Given the description of an element on the screen output the (x, y) to click on. 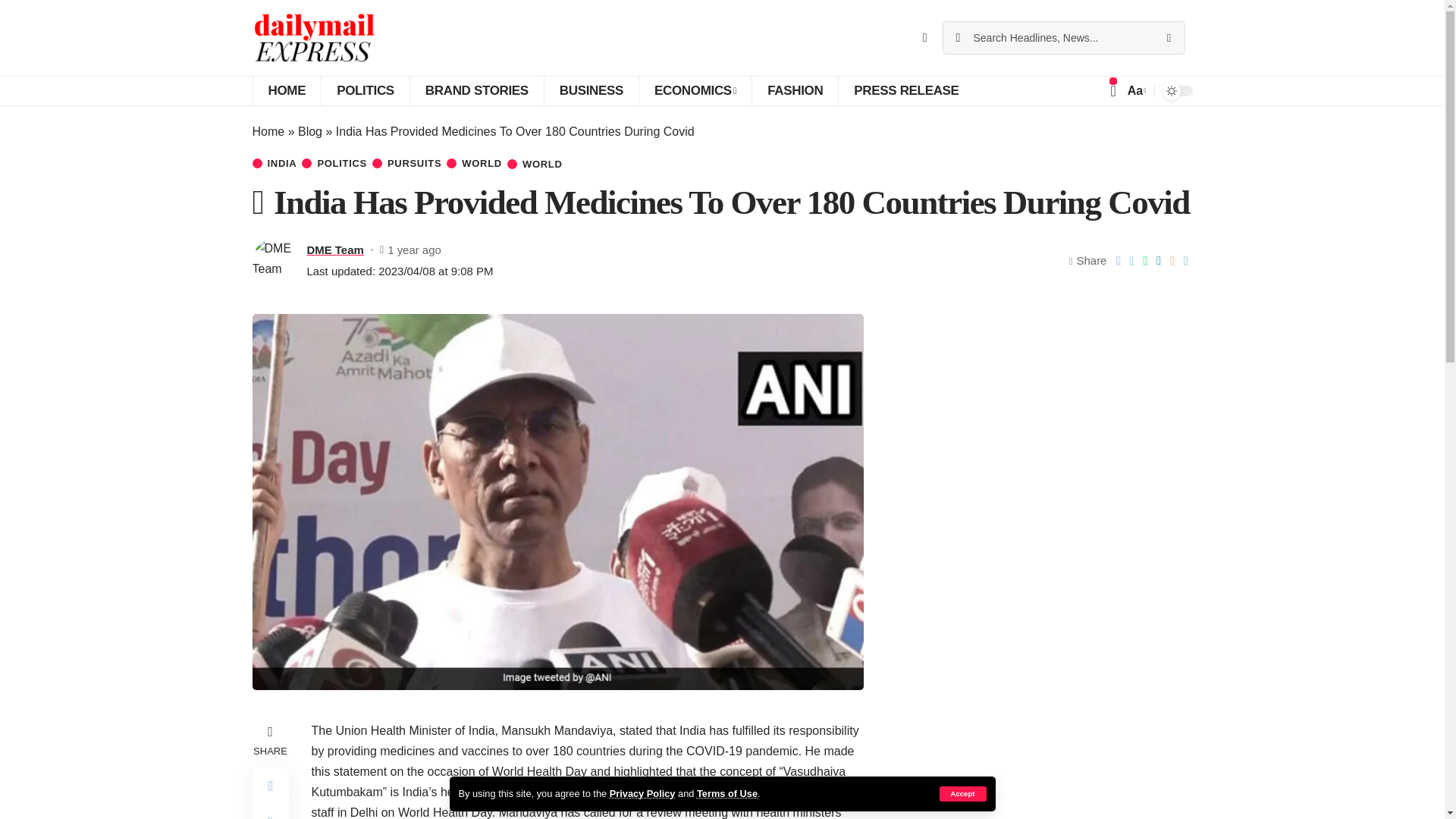
Privacy Policy (642, 793)
PRESS RELEASE (906, 91)
FASHION (794, 91)
BRAND STORIES (476, 91)
Daily Mail Express (313, 37)
ECONOMICS (695, 91)
Accept (962, 793)
POLITICS (364, 91)
BUSINESS (591, 91)
HOME (285, 91)
